Given the description of an element on the screen output the (x, y) to click on. 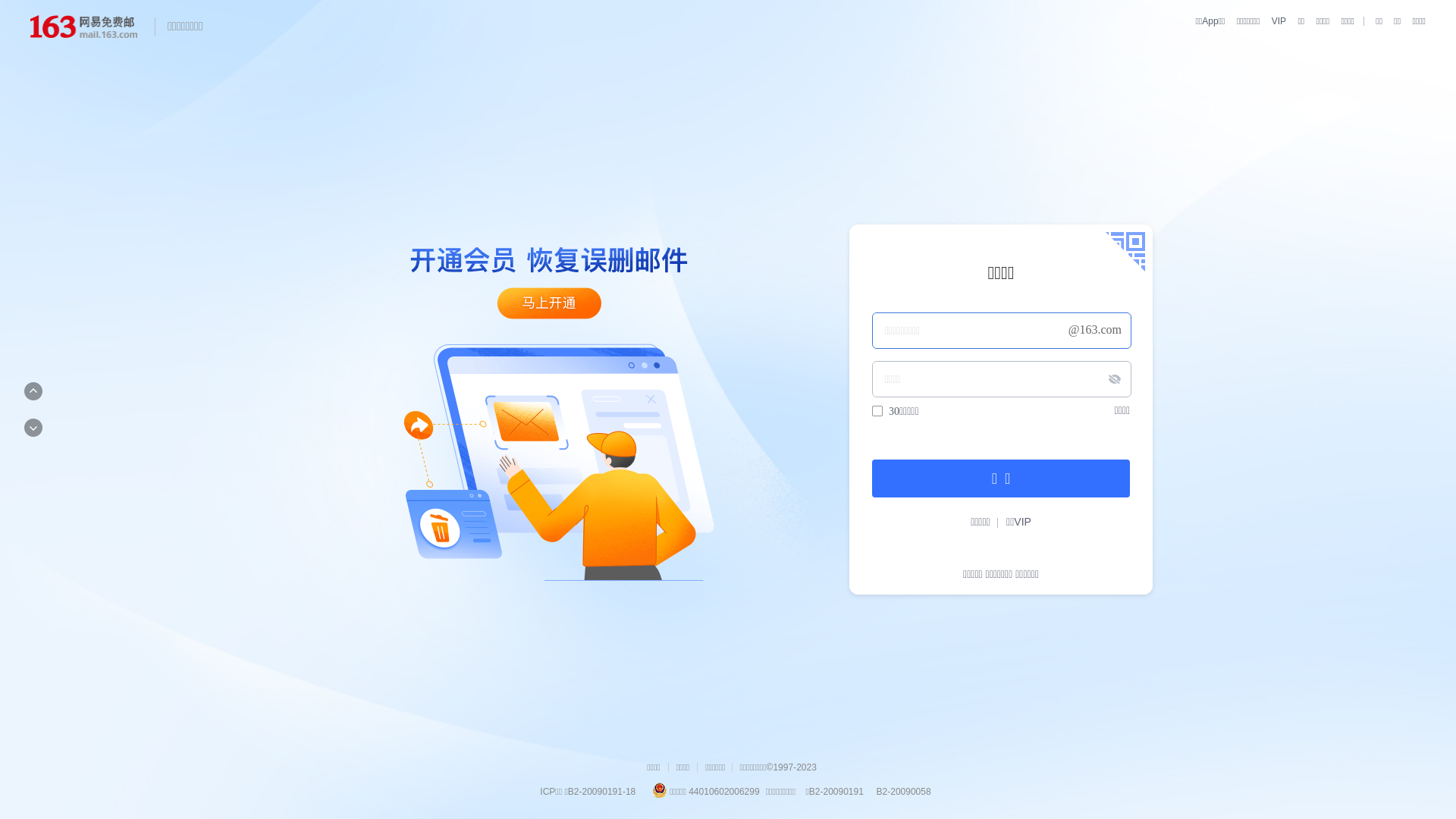
 B2-20090058 Element type: text (901, 791)
VIP Element type: text (1274, 21)
